Given the description of an element on the screen output the (x, y) to click on. 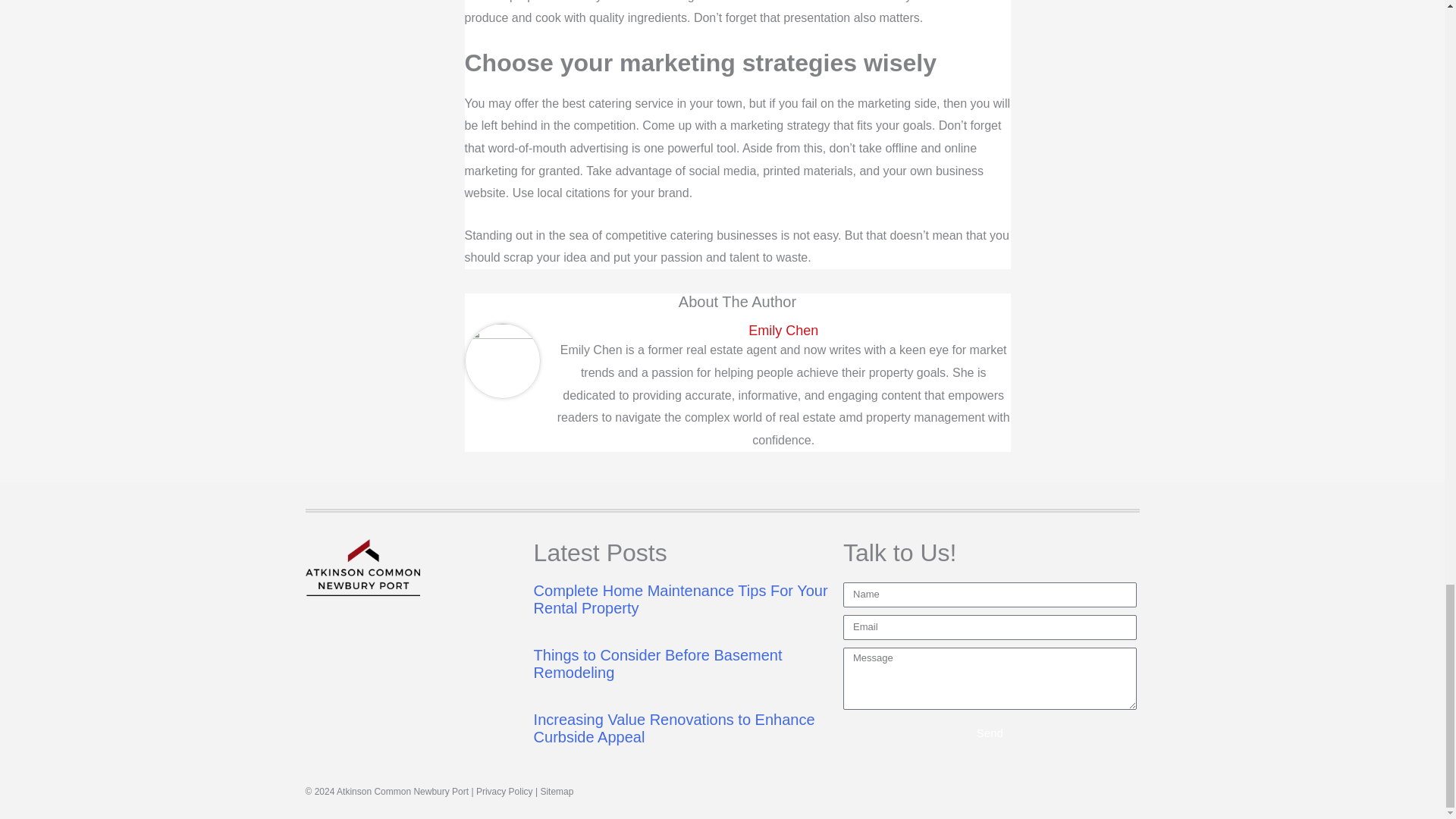
Increasing Value Renovations to Enhance Curbside Appeal (674, 728)
Emily Chen (783, 330)
Privacy Policy (504, 791)
Send (990, 732)
Complete Home Maintenance Tips For Your Rental Property (681, 599)
Things to Consider Before Basement Remodeling (658, 663)
Sitemap (556, 791)
